Given the description of an element on the screen output the (x, y) to click on. 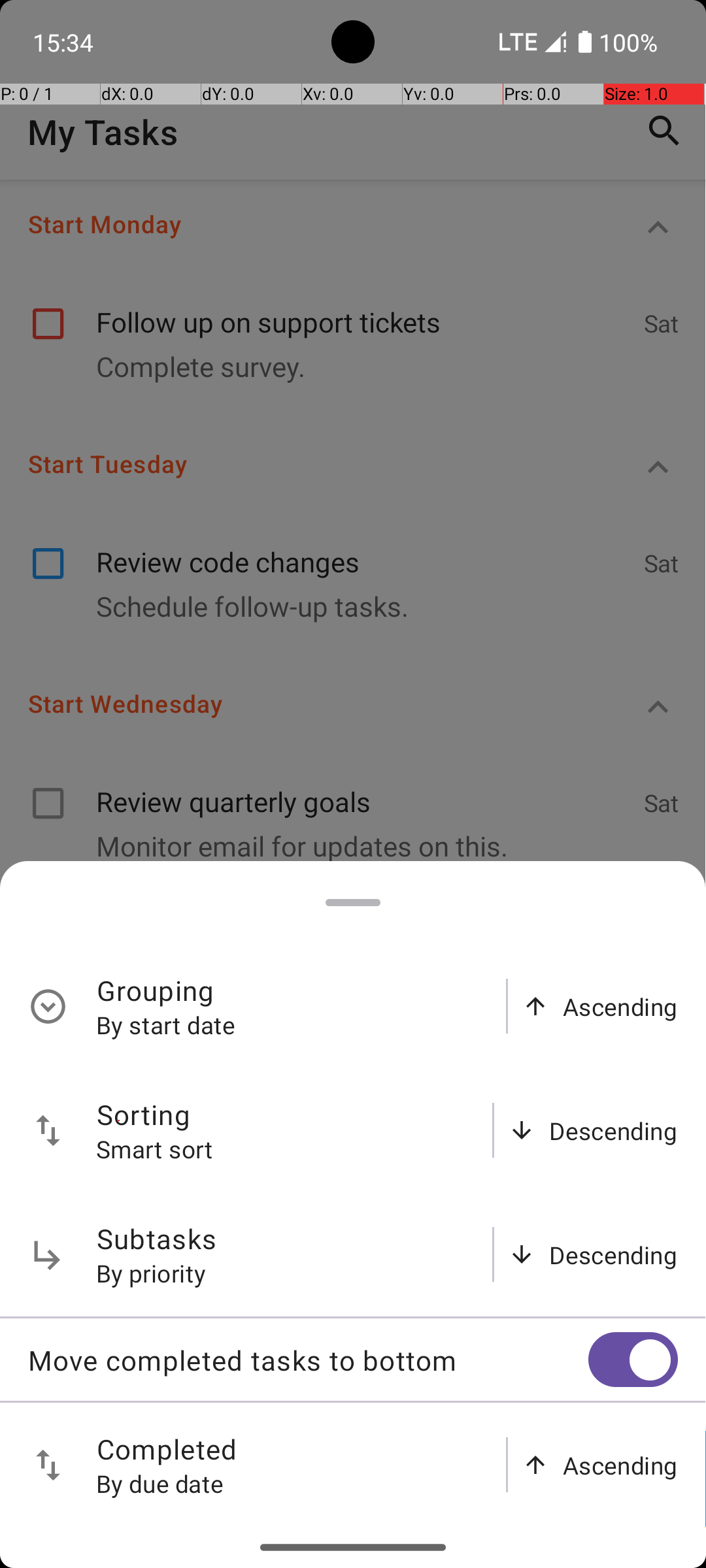
By start date Element type: android.widget.TextView (165, 1024)
Smart sort Element type: android.widget.TextView (154, 1148)
Completed Element type: android.widget.TextView (166, 1448)
By due date Element type: android.widget.TextView (160, 1483)
Ascending Element type: android.widget.TextView (619, 1006)
